Given the description of an element on the screen output the (x, y) to click on. 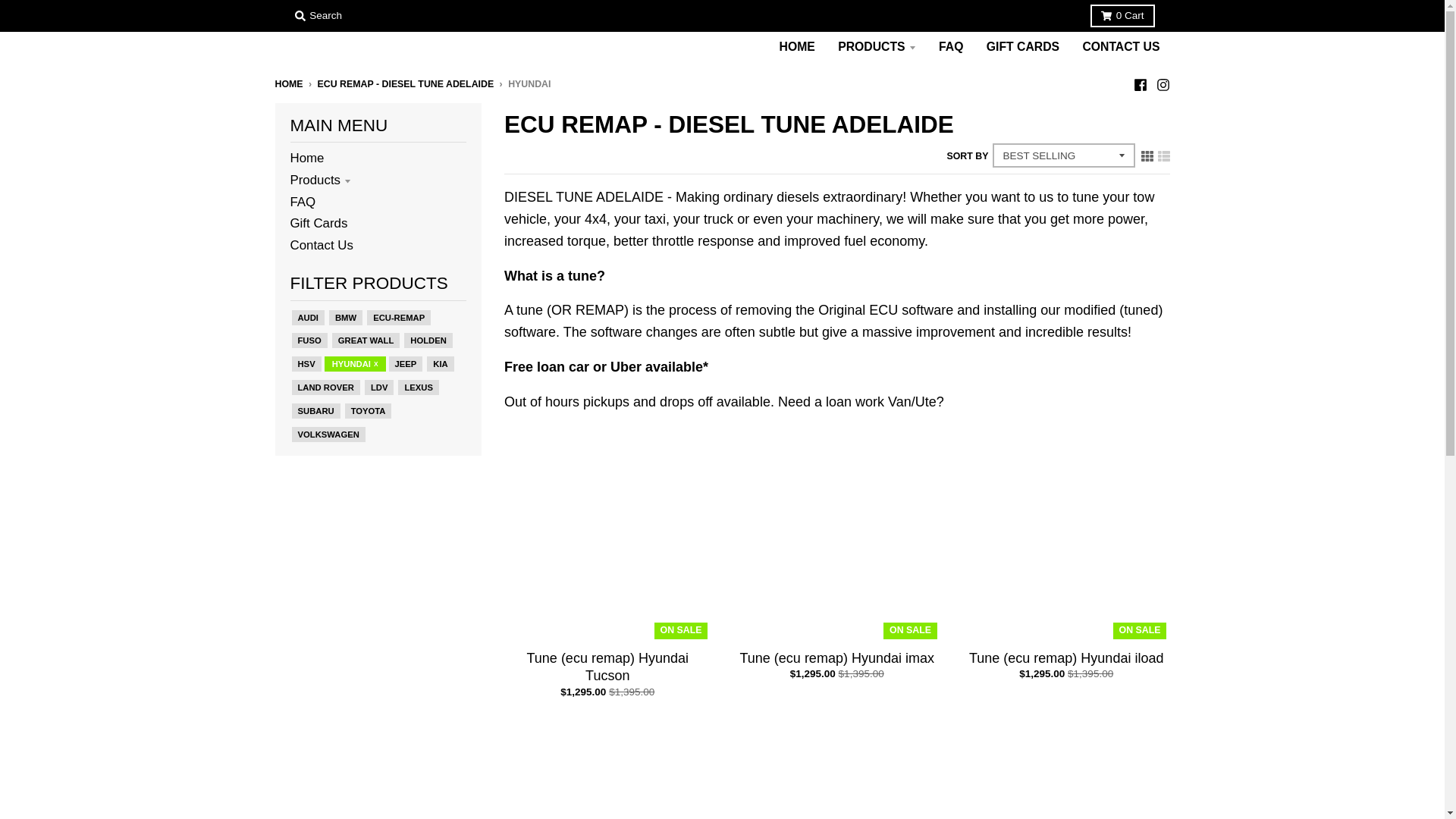
FAQ (950, 46)
Instagram - Diesel Tune Adelaide (1162, 83)
CONTACT US (1120, 46)
Facebook - Diesel Tune Adelaide (1139, 83)
Search (317, 15)
PRODUCTS (876, 46)
Back to the frontpage (288, 83)
ECU REMAP - DIESEL TUNE ADELAIDE (406, 83)
GIFT CARDS (1022, 46)
0 Cart (1122, 15)
HOME (797, 46)
HOME (288, 83)
